Given the description of an element on the screen output the (x, y) to click on. 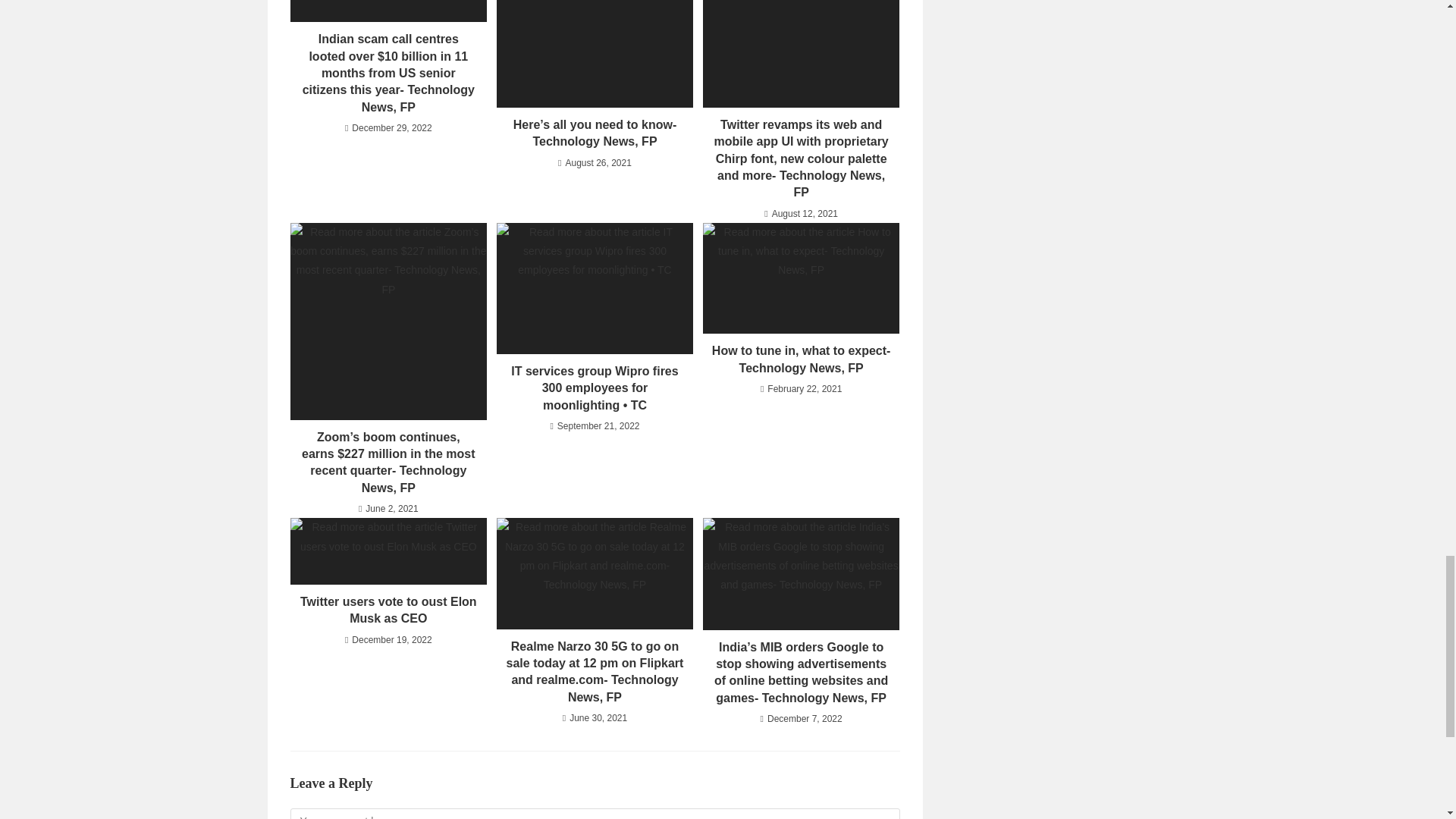
Twitter users vote to oust Elon Musk as CEO (387, 610)
How to tune in, what to expect- Technology News, FP (801, 359)
